Given the description of an element on the screen output the (x, y) to click on. 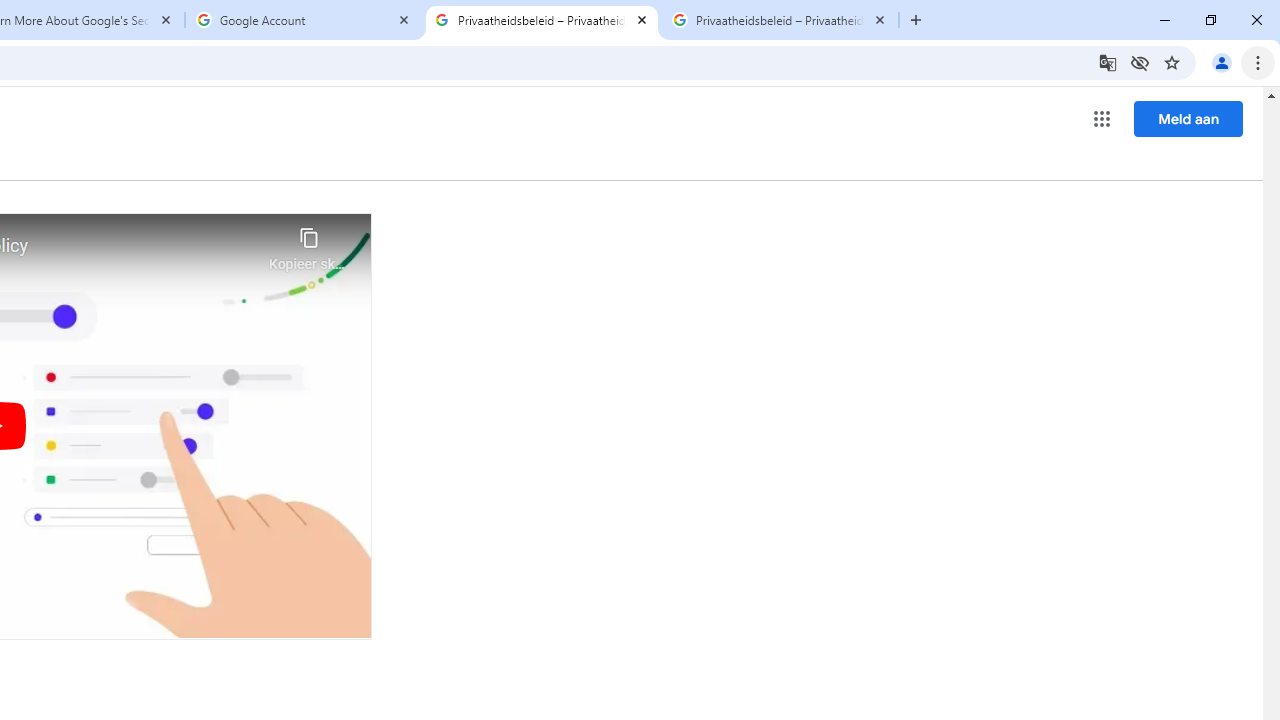
Google Account (304, 20)
